Given the description of an element on the screen output the (x, y) to click on. 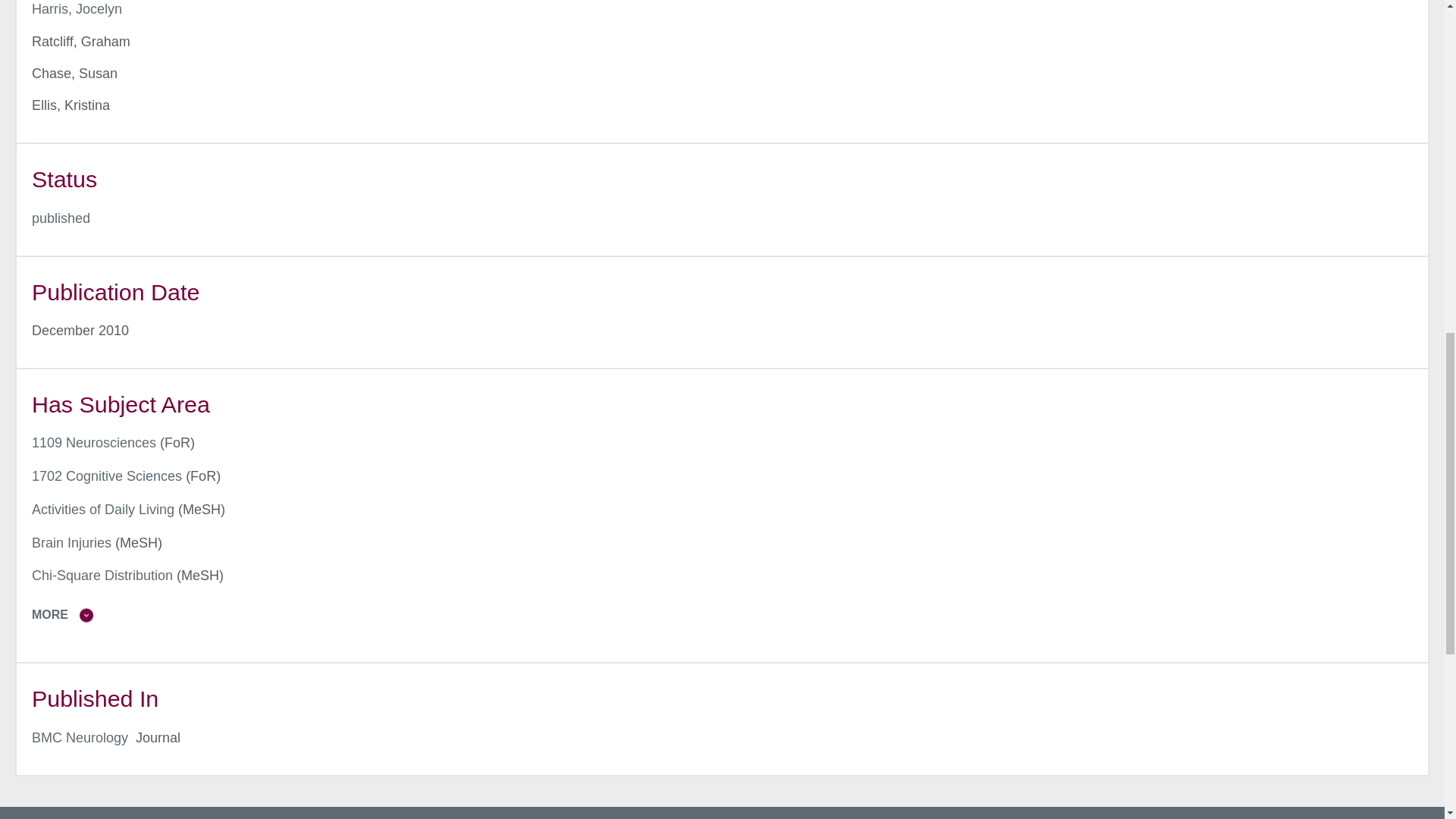
concept name (93, 442)
concept name (107, 476)
concept name (72, 542)
concept name (102, 575)
concept name (103, 509)
author name (77, 8)
name (61, 218)
